Given the description of an element on the screen output the (x, y) to click on. 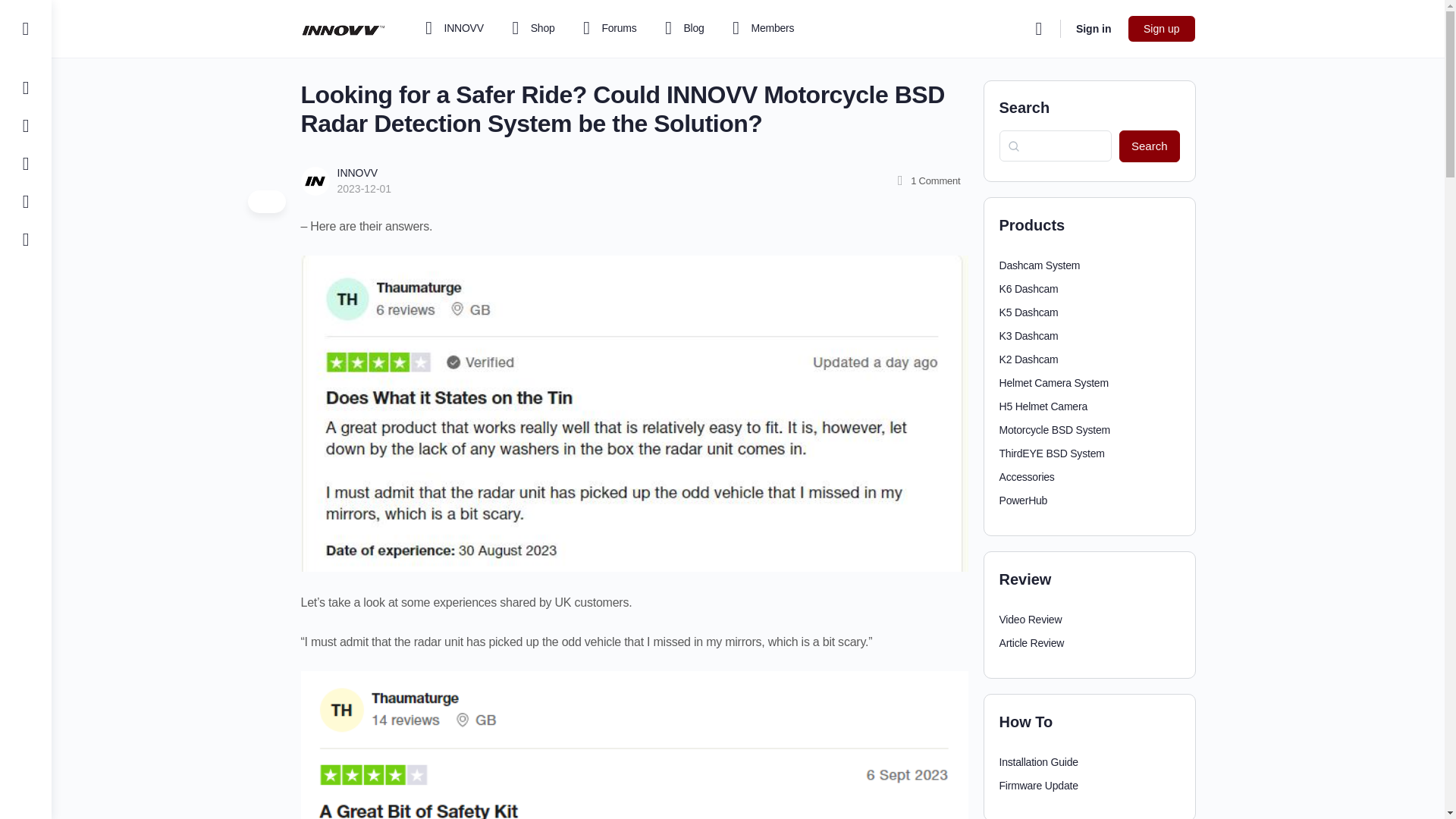
INNOVV (452, 28)
Sign in (1094, 28)
1 Comment (926, 180)
Shop (530, 28)
2023-12-01 (363, 188)
Sign up (1160, 28)
Forums (607, 28)
Members (760, 28)
INNOVV (356, 173)
Blog (681, 28)
